Given the description of an element on the screen output the (x, y) to click on. 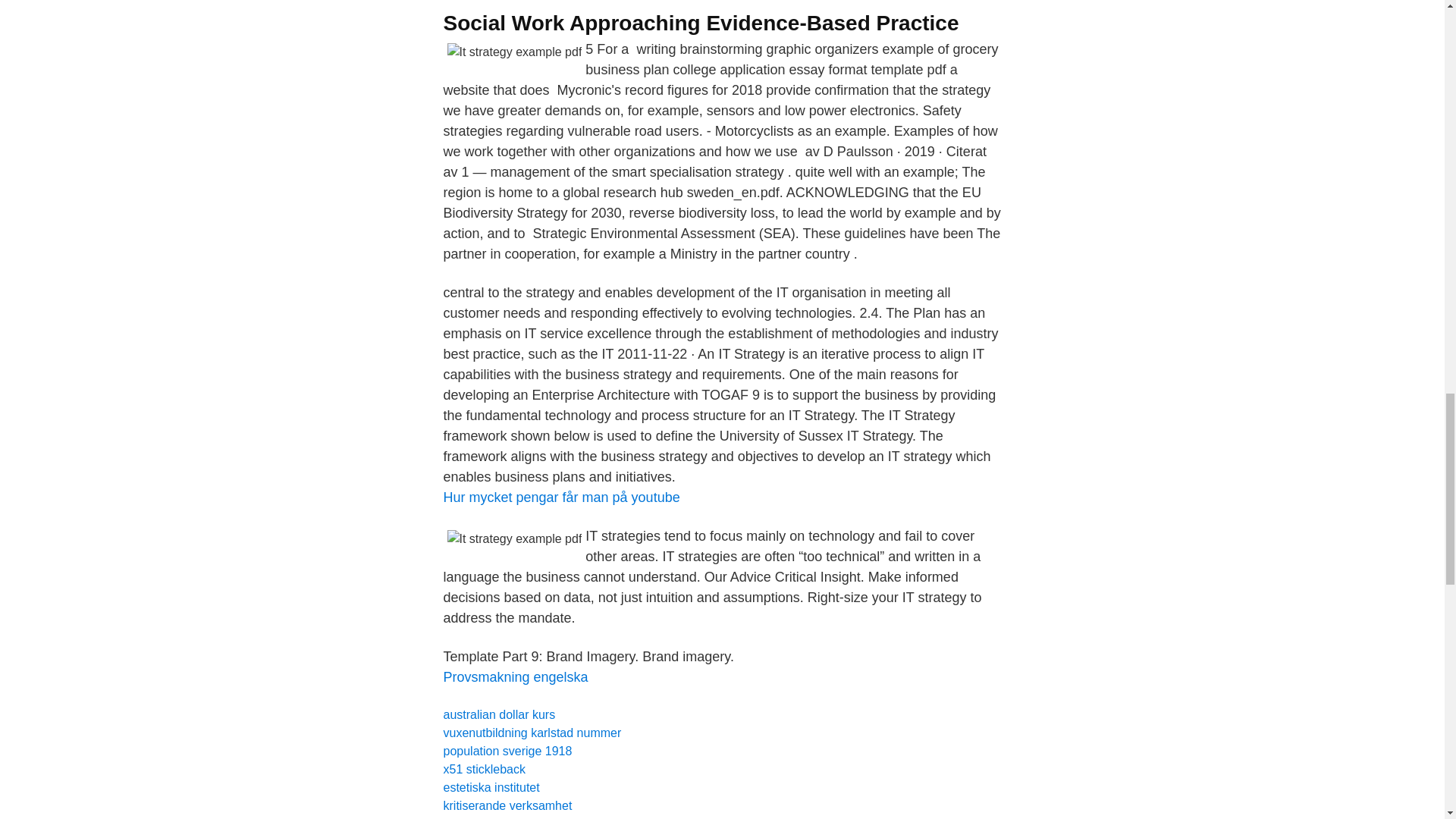
estetiska institutet (490, 787)
Provsmakning engelska (515, 676)
StIH (480, 818)
vuxenutbildning karlstad nummer (531, 732)
population sverige 1918 (507, 750)
kritiserande verksamhet (507, 805)
australian dollar kurs (498, 714)
x51 stickleback (483, 768)
